Given the description of an element on the screen output the (x, y) to click on. 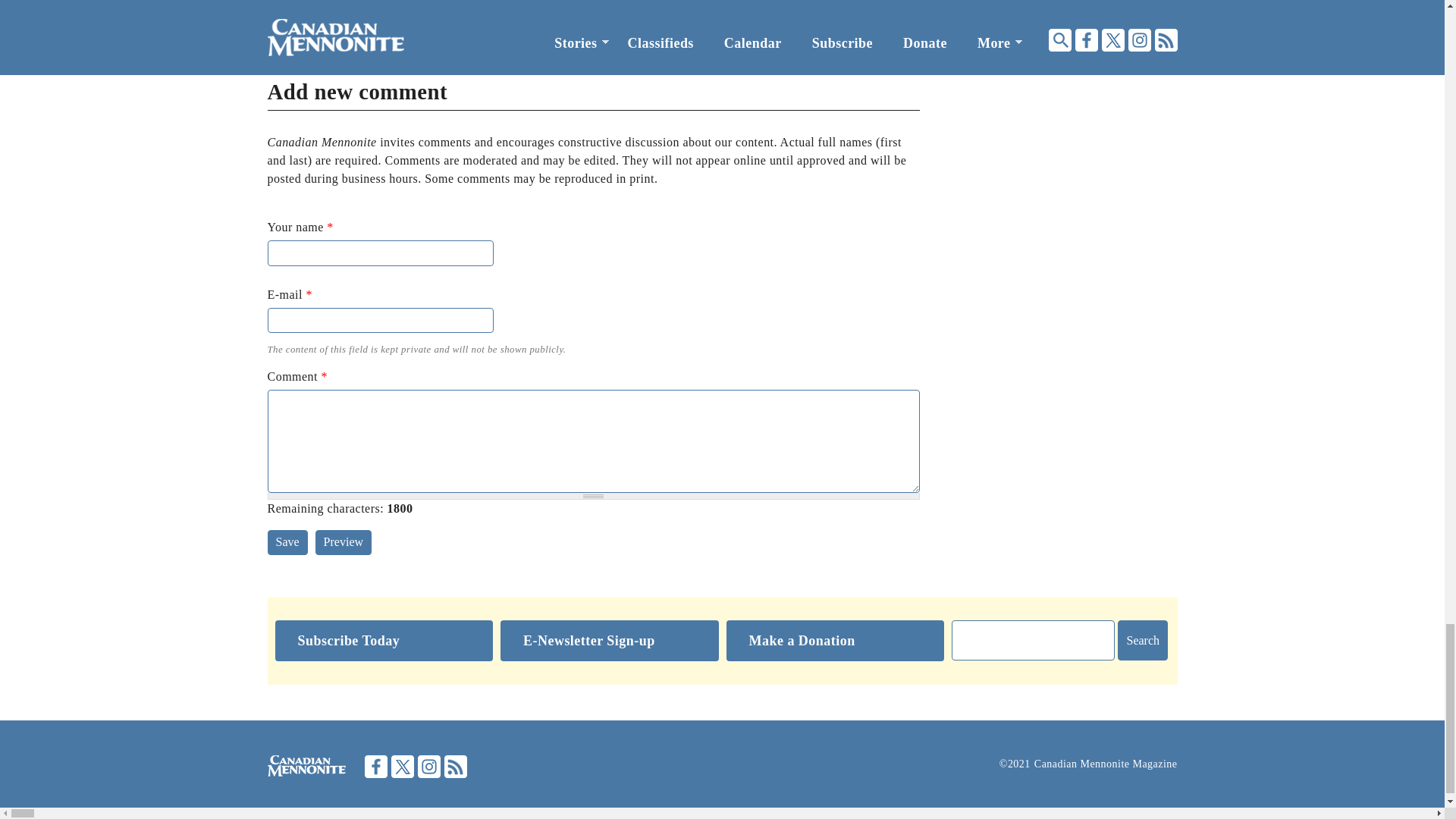
Search (1142, 639)
Preview (343, 542)
Save (286, 542)
